Given the description of an element on the screen output the (x, y) to click on. 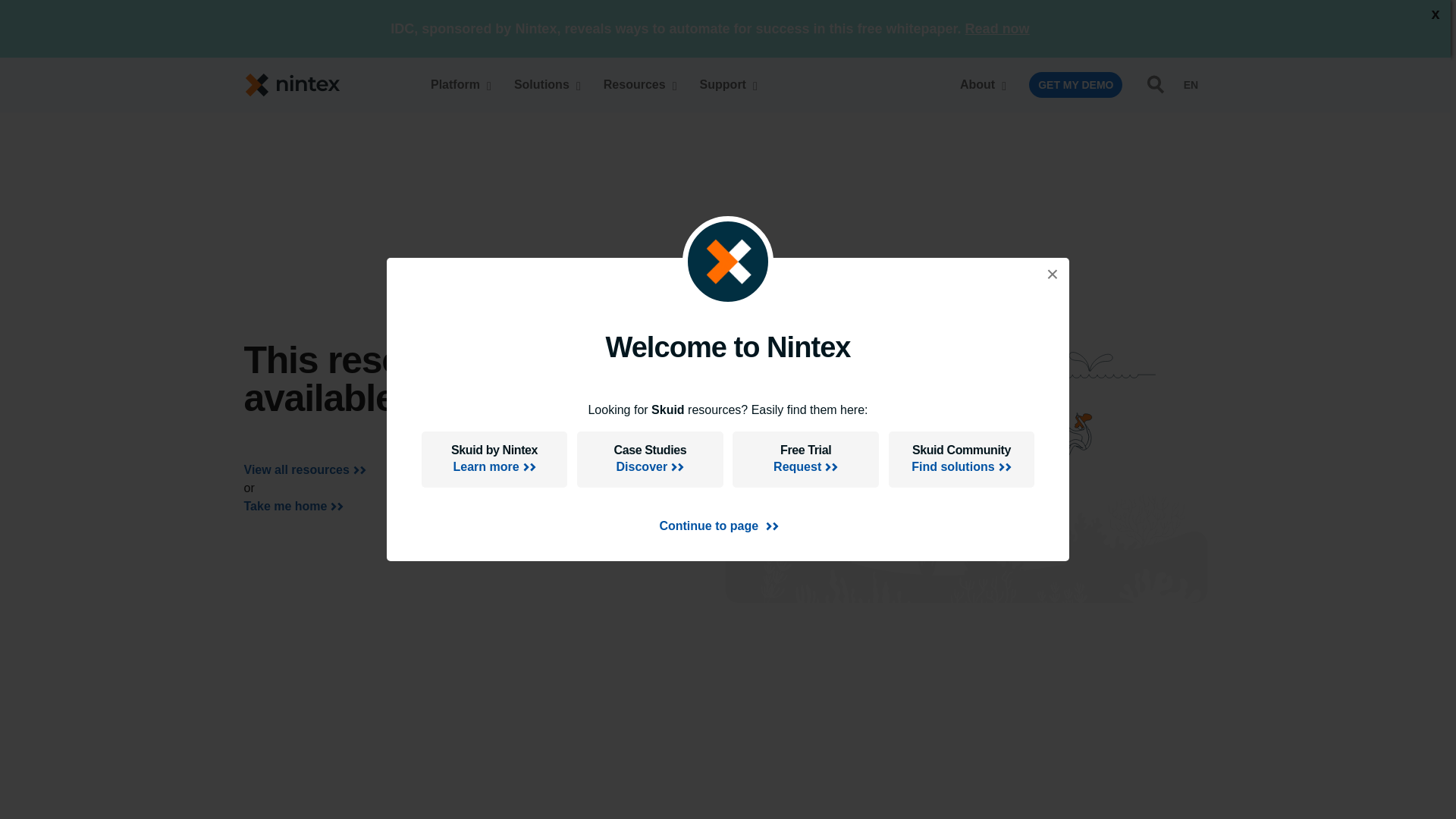
Solutions (543, 84)
Continue to page (718, 525)
Discover (649, 466)
Learn more (776, 84)
Request (494, 466)
Platform (805, 466)
Nintex (456, 84)
Find solutions (299, 84)
English (961, 466)
